Given the description of an element on the screen output the (x, y) to click on. 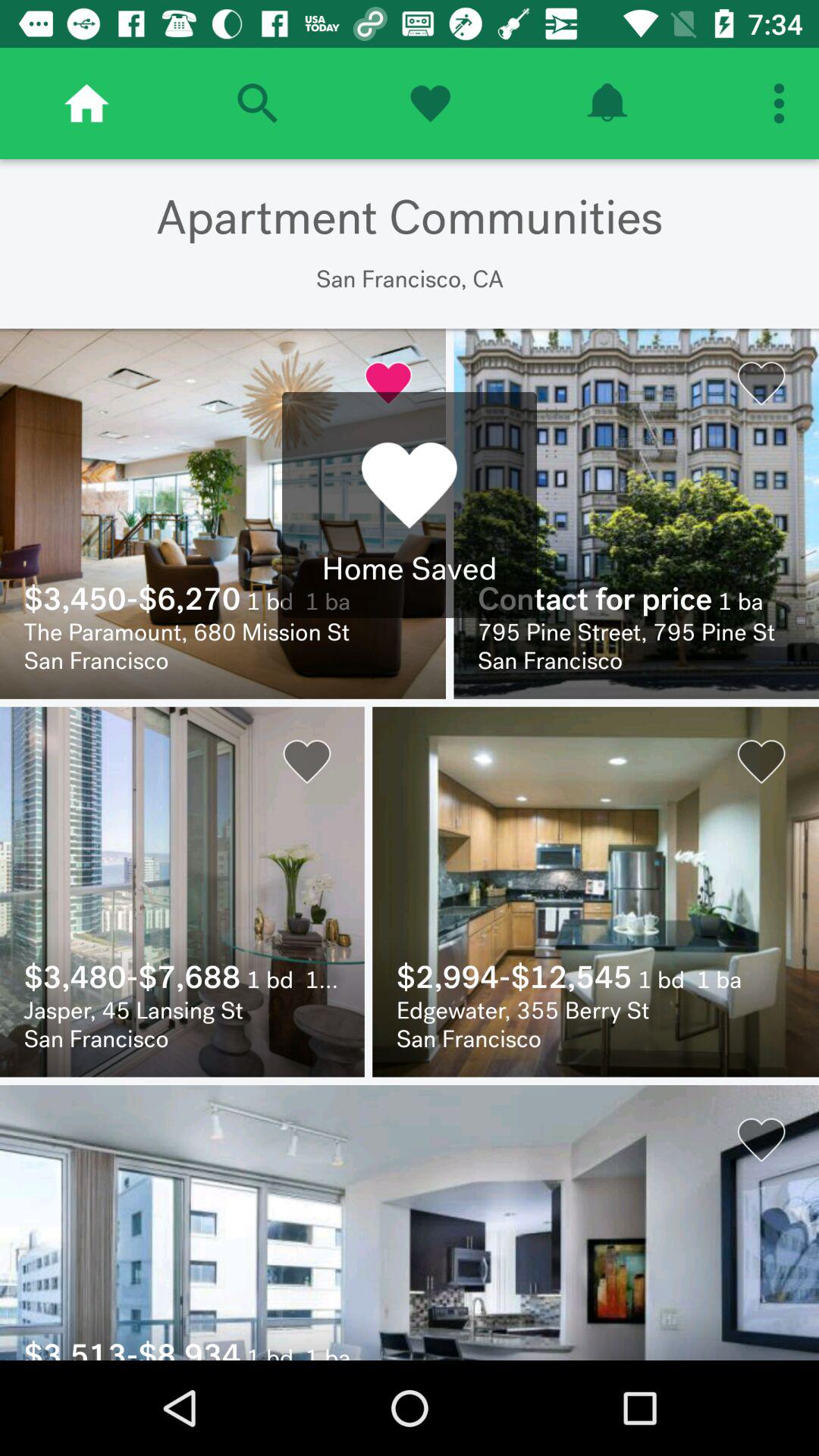
go to home page (86, 103)
